Given the description of an element on the screen output the (x, y) to click on. 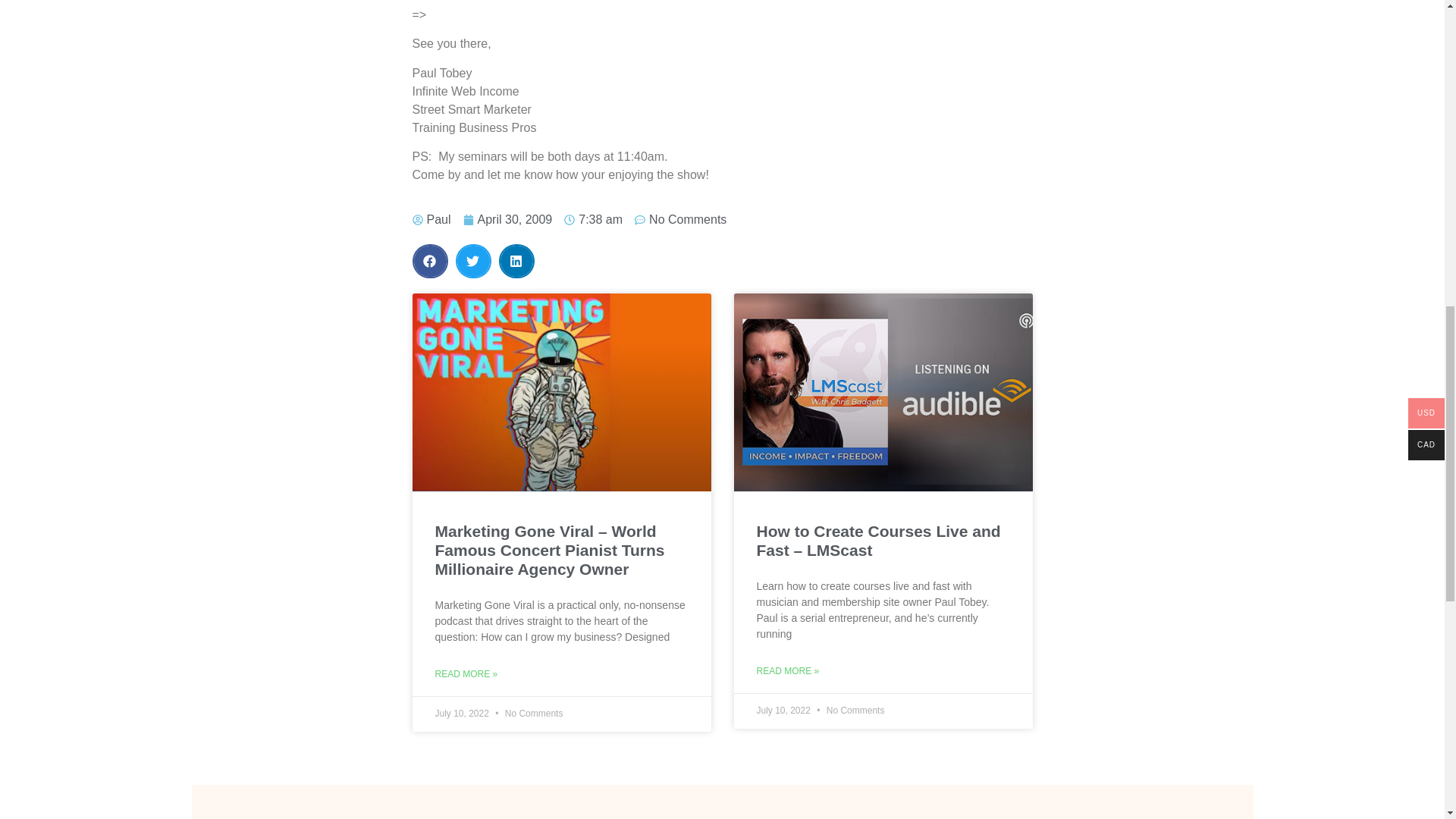
Paul (431, 219)
April 30, 2009 (508, 219)
No Comments (680, 219)
